Given the description of an element on the screen output the (x, y) to click on. 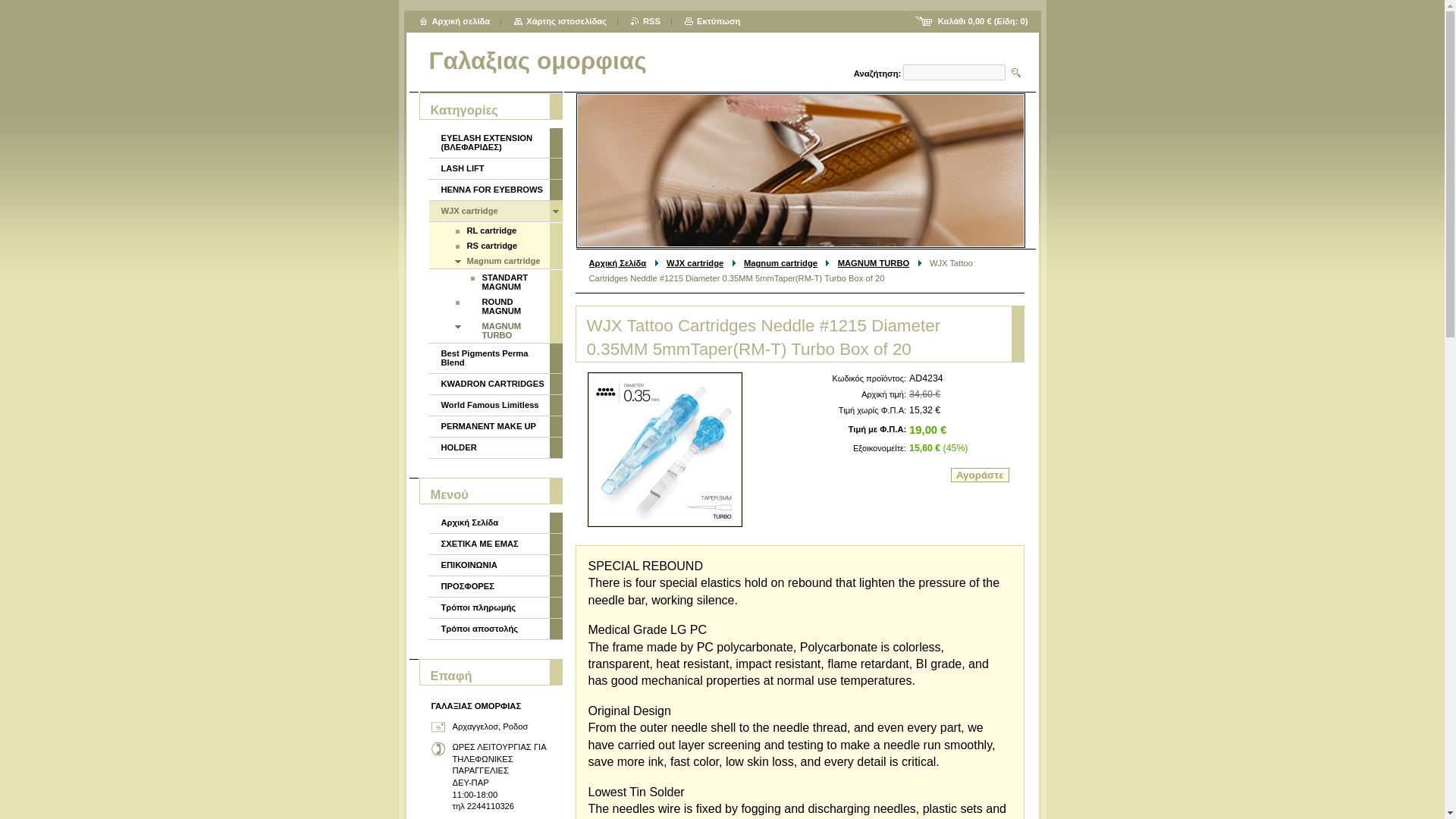
World Famous Limitless (489, 404)
HOLDER (489, 447)
PERMANENT MAKE UP (489, 426)
RS cartridge (489, 245)
STANDART MAGNUM (489, 282)
KWADRON CARTRIDGES (489, 383)
RL cartridge (489, 230)
LASH LIFT (489, 168)
MAGNUM TURBO (873, 262)
MAGNUM TURBO (489, 330)
